Given the description of an element on the screen output the (x, y) to click on. 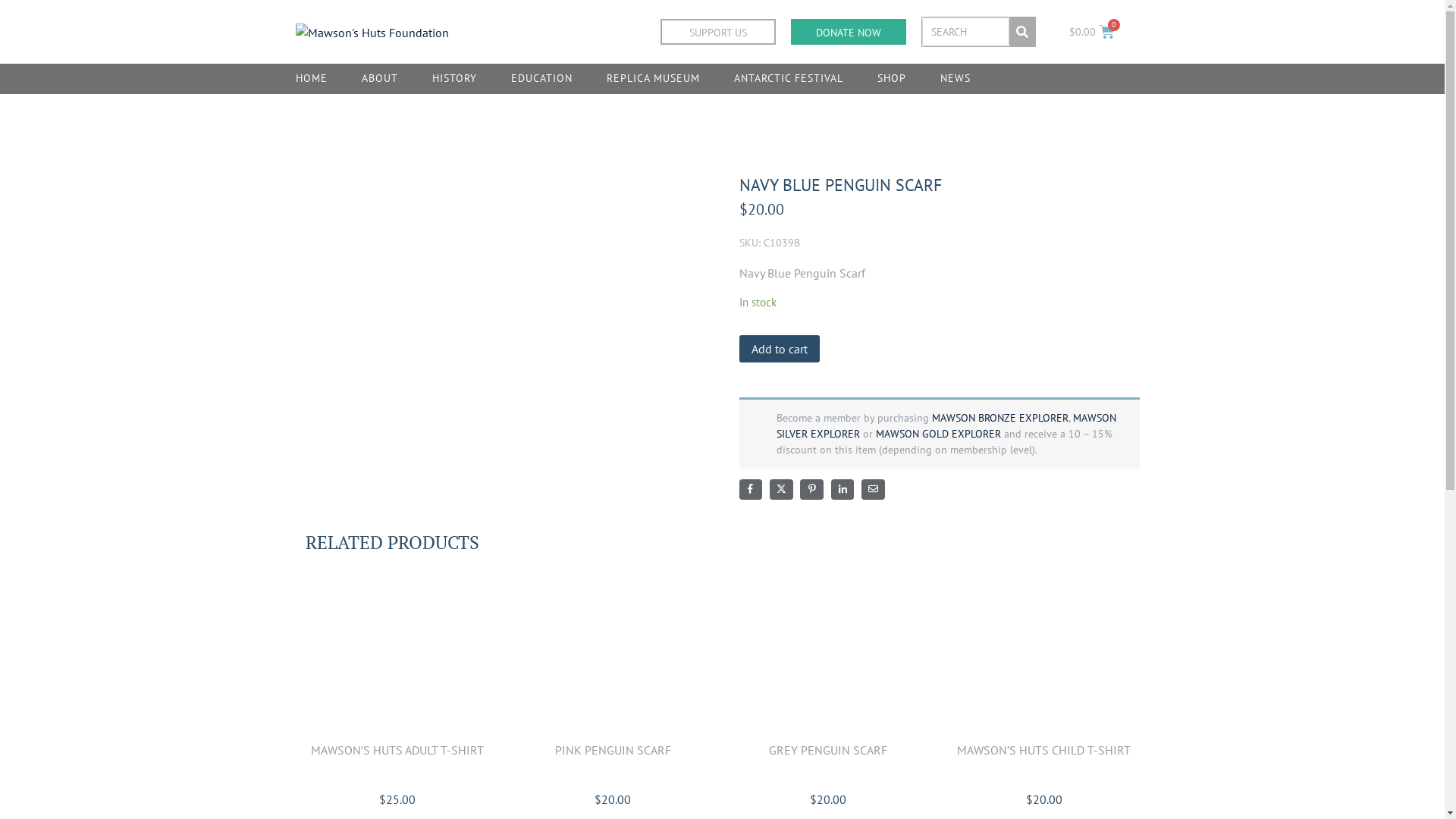
SHOP Element type: text (891, 78)
SUPPORT US Element type: text (717, 31)
HISTORY Element type: text (454, 78)
REPLICA MUSEUM Element type: text (652, 78)
Add to cart Element type: text (778, 348)
HOME Element type: text (311, 78)
MAWSON BRONZE EXPLORER Element type: text (999, 417)
DONATE NOW Element type: text (848, 31)
MAWSON SILVER EXPLORER Element type: text (946, 425)
ANTARCTIC FESTIVAL Element type: text (788, 78)
MAWSON GOLD EXPLORER Element type: text (937, 433)
EDUCATION Element type: text (541, 78)
$0.00
0 Element type: text (1091, 31)
ABOUT Element type: text (379, 78)
NEWS Element type: text (955, 78)
